Given the description of an element on the screen output the (x, y) to click on. 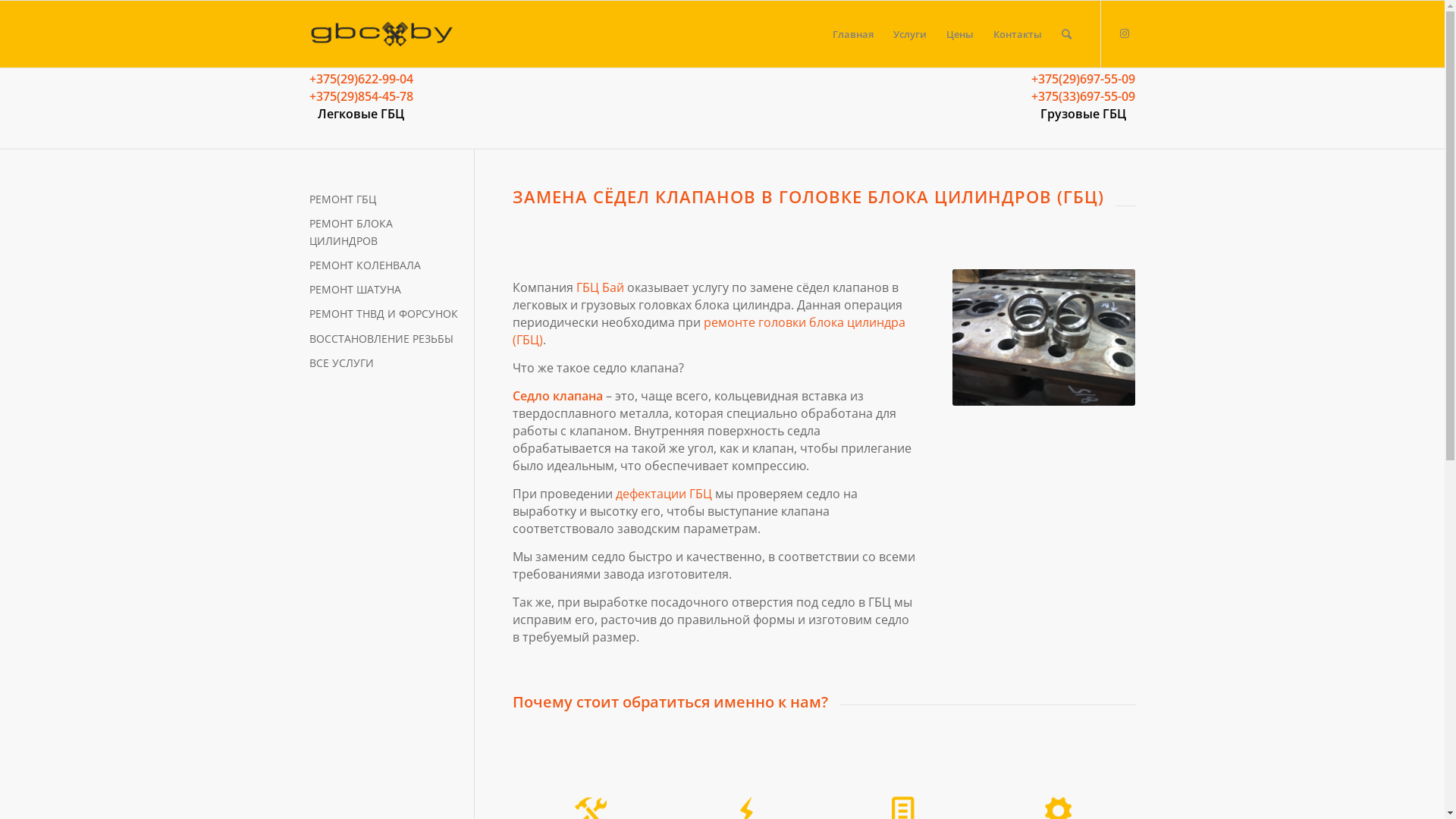
+375(33)697-55-09 Element type: text (1083, 95)
+375(29)622-99-04 Element type: text (361, 78)
Instagram Element type: hover (1124, 32)
+375(29)697-55-09 Element type: text (1083, 78)
+375(29)854-45-78 Element type: text (361, 95)
